Given the description of an element on the screen output the (x, y) to click on. 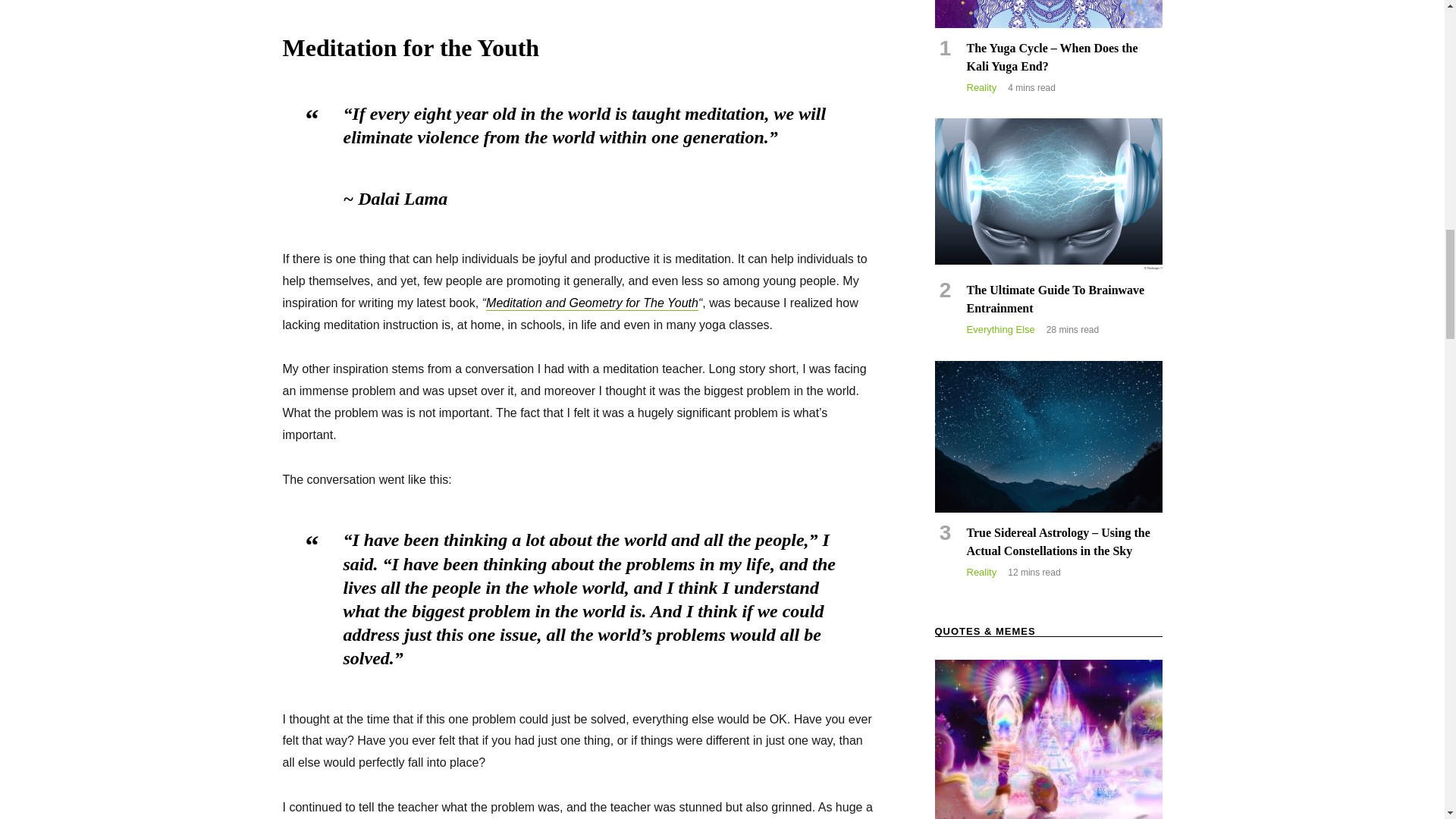
Meditation and Geometry for The Youth (592, 303)
Meditation and Geometry for The Youth (592, 303)
